Given the description of an element on the screen output the (x, y) to click on. 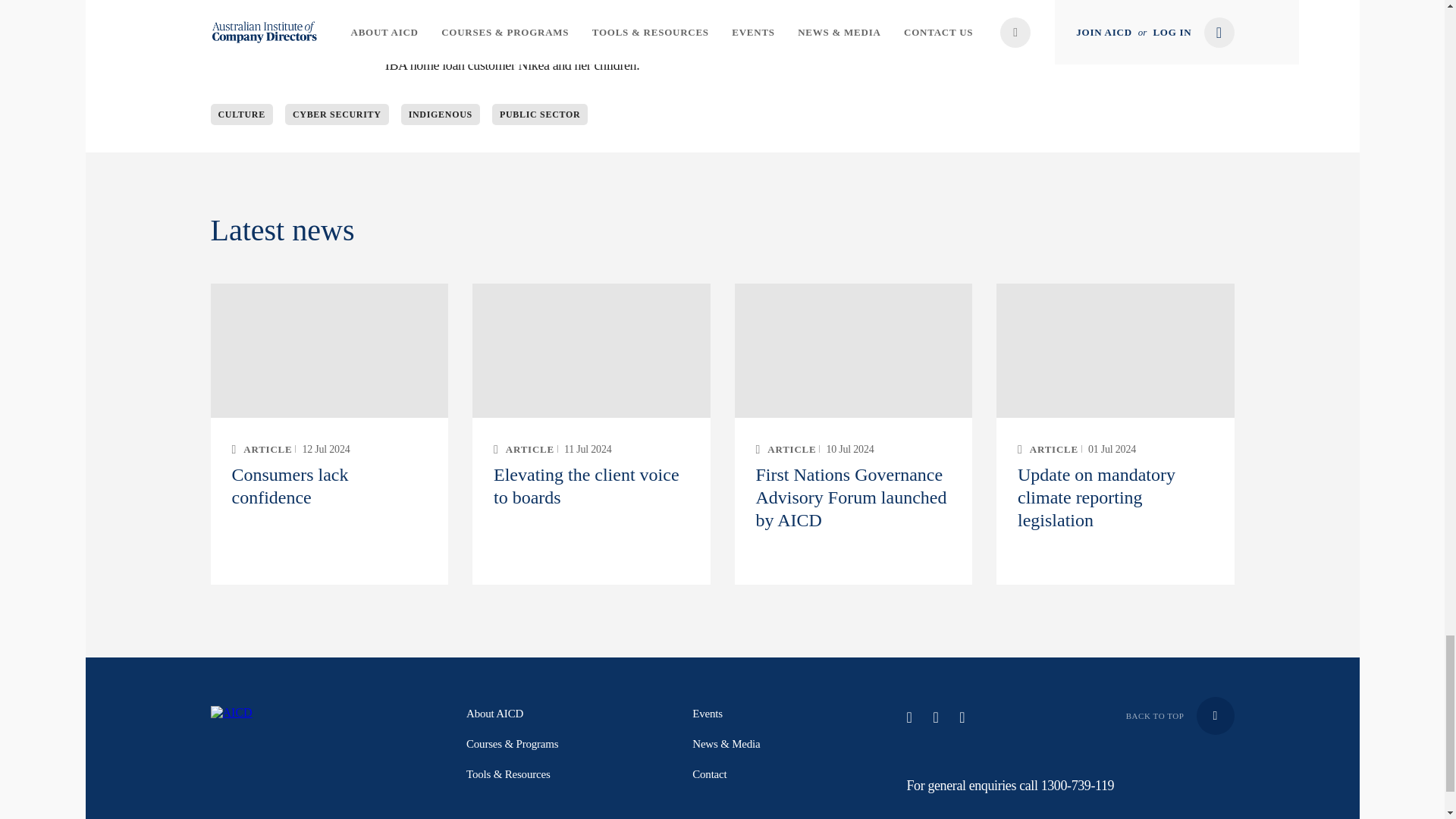
closegap2 (415, 8)
